Given the description of an element on the screen output the (x, y) to click on. 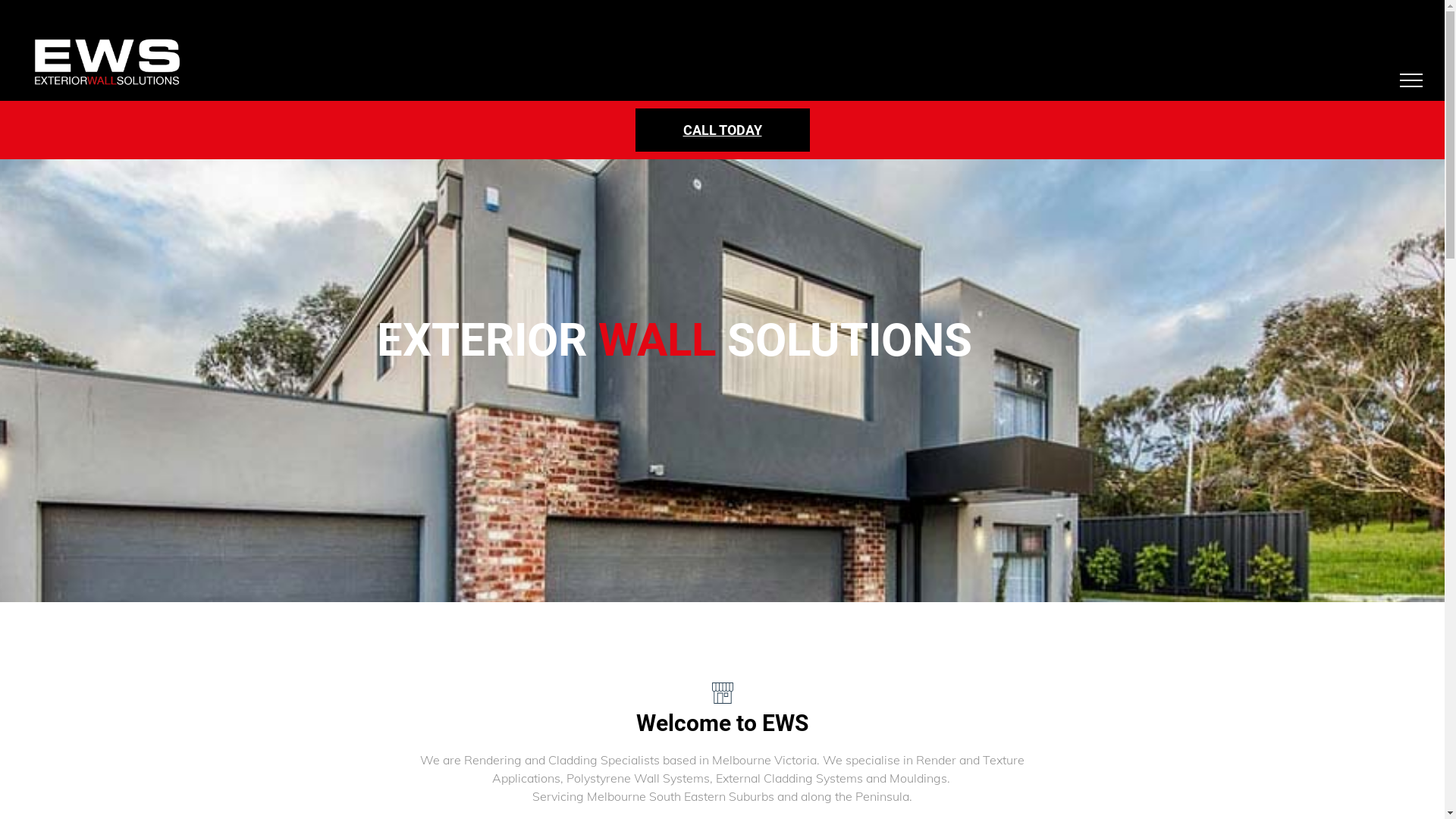
CALL TODAY Element type: text (722, 129)
